Given the description of an element on the screen output the (x, y) to click on. 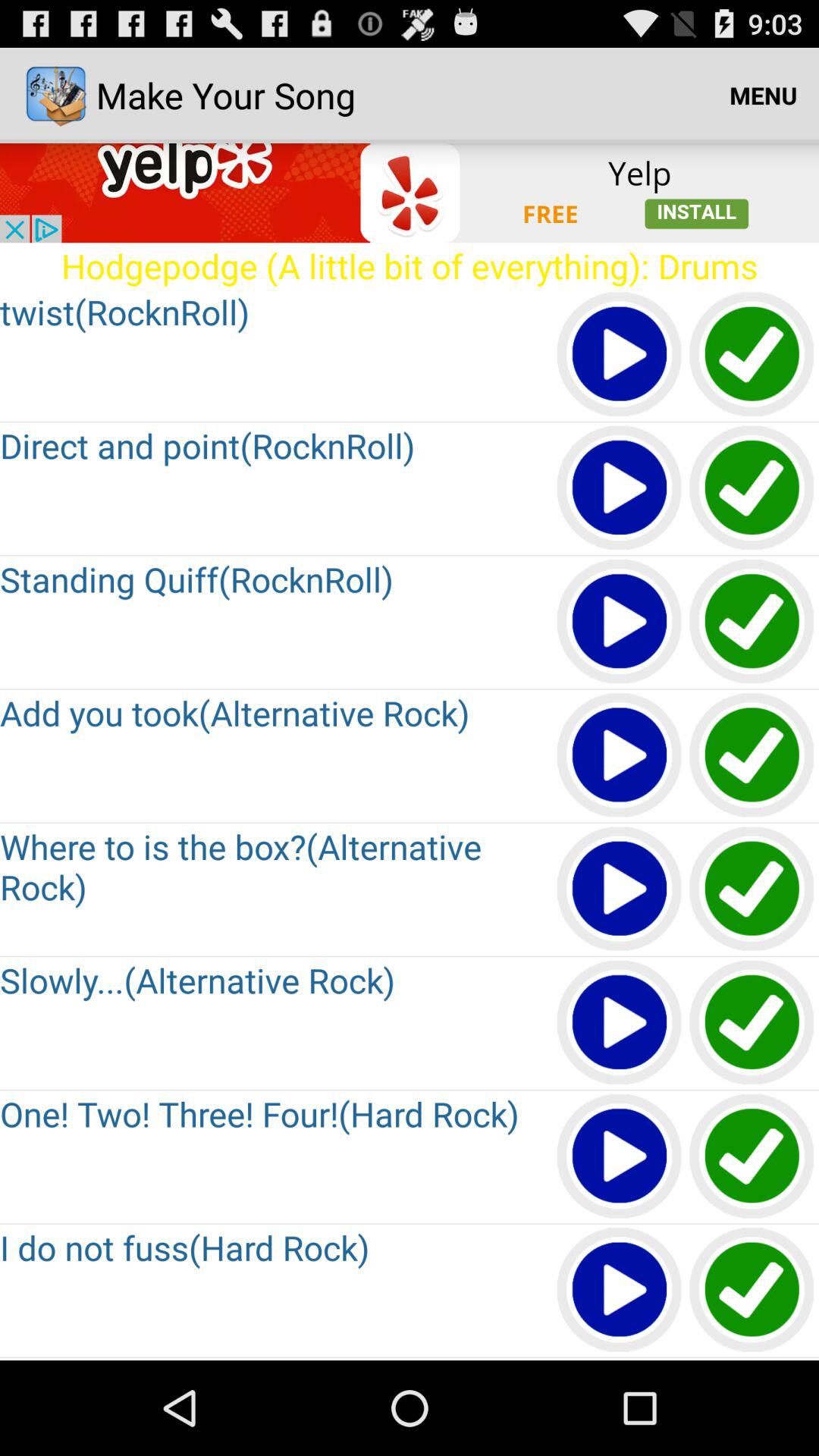
go down (619, 1359)
